Given the description of an element on the screen output the (x, y) to click on. 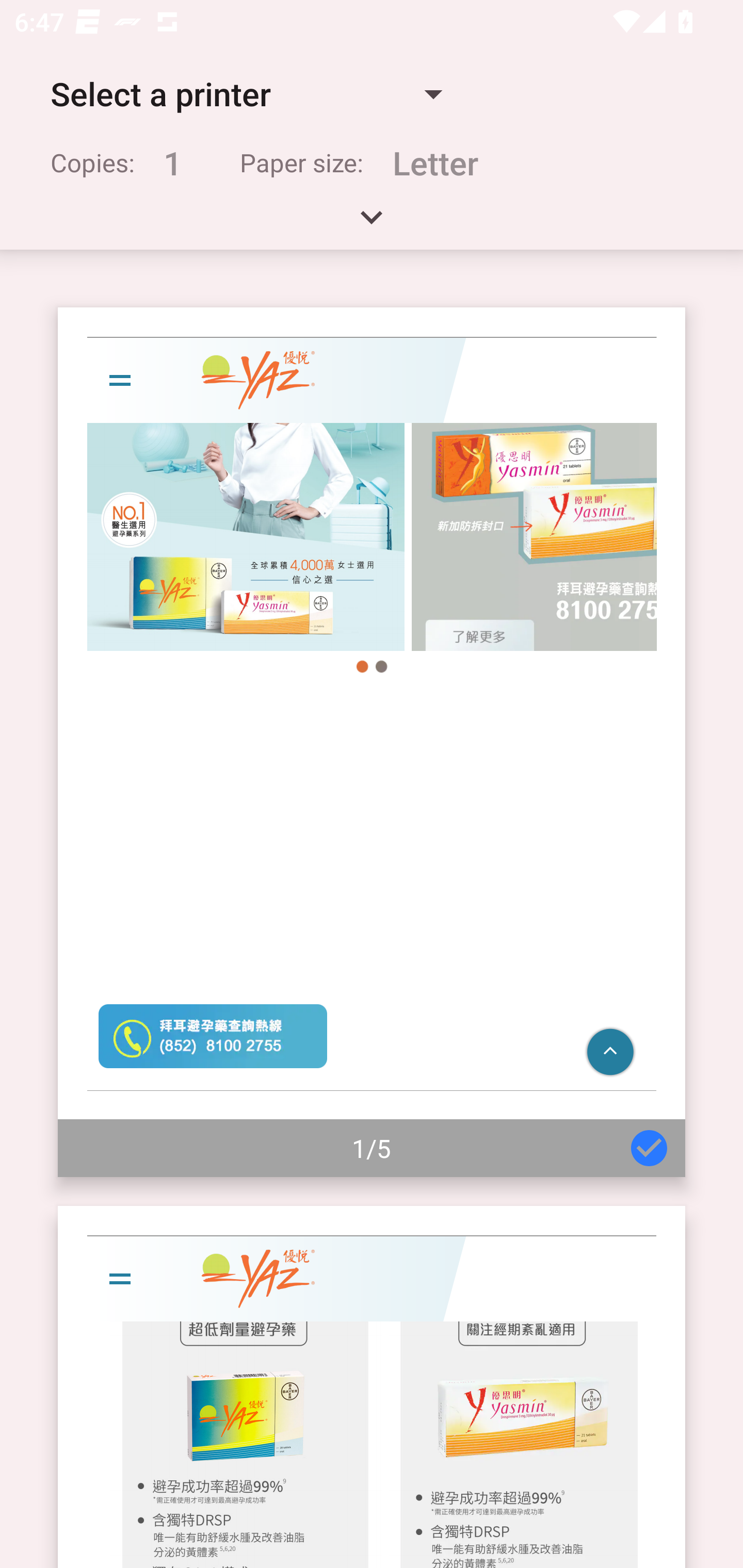
Select a printer (245, 93)
Expand handle (371, 224)
Page 1 of 5 1/5 (371, 742)
Page 2 of 5 (371, 1386)
